Given the description of an element on the screen output the (x, y) to click on. 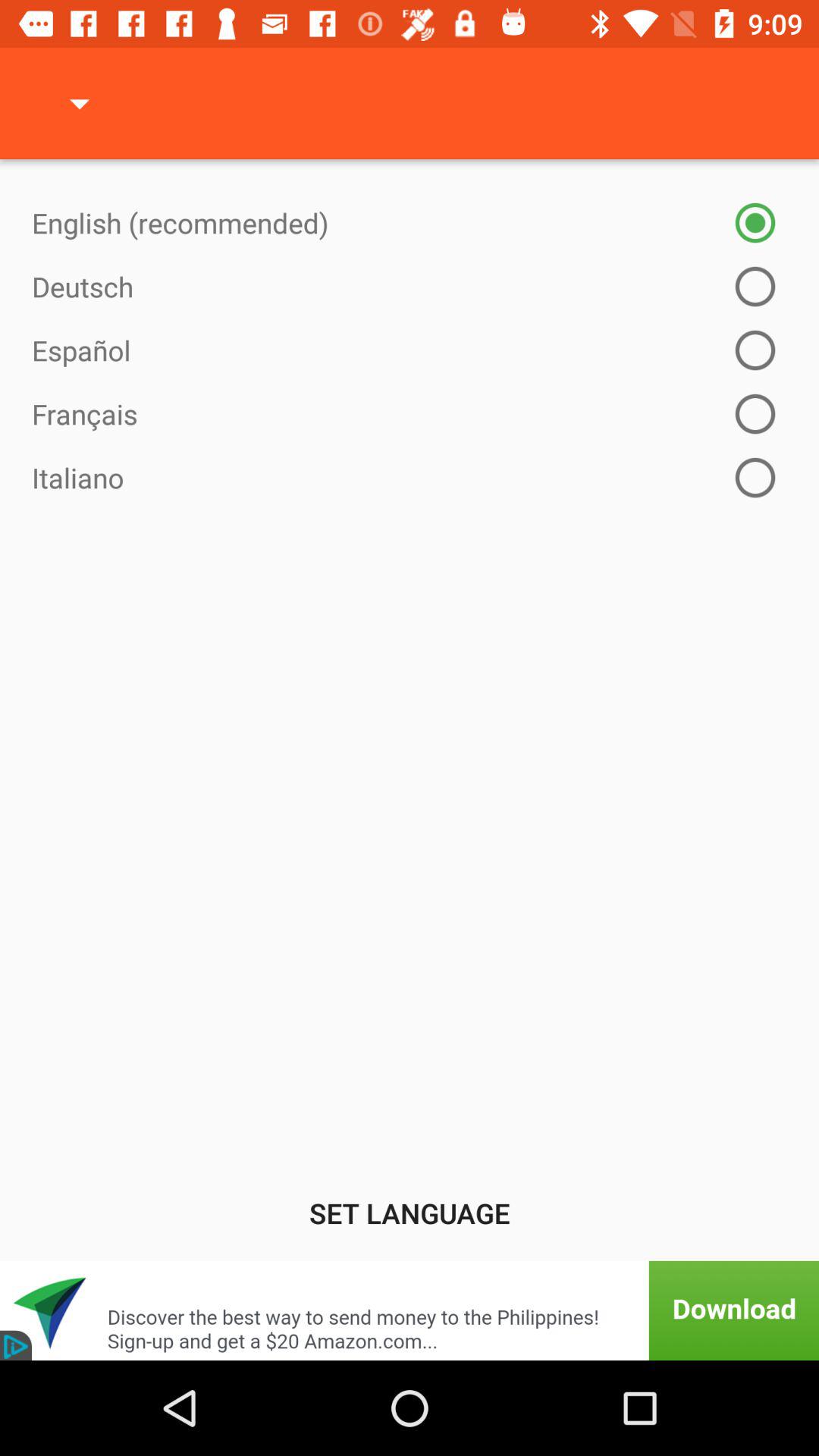
press icon below the set language icon (409, 1310)
